Given the description of an element on the screen output the (x, y) to click on. 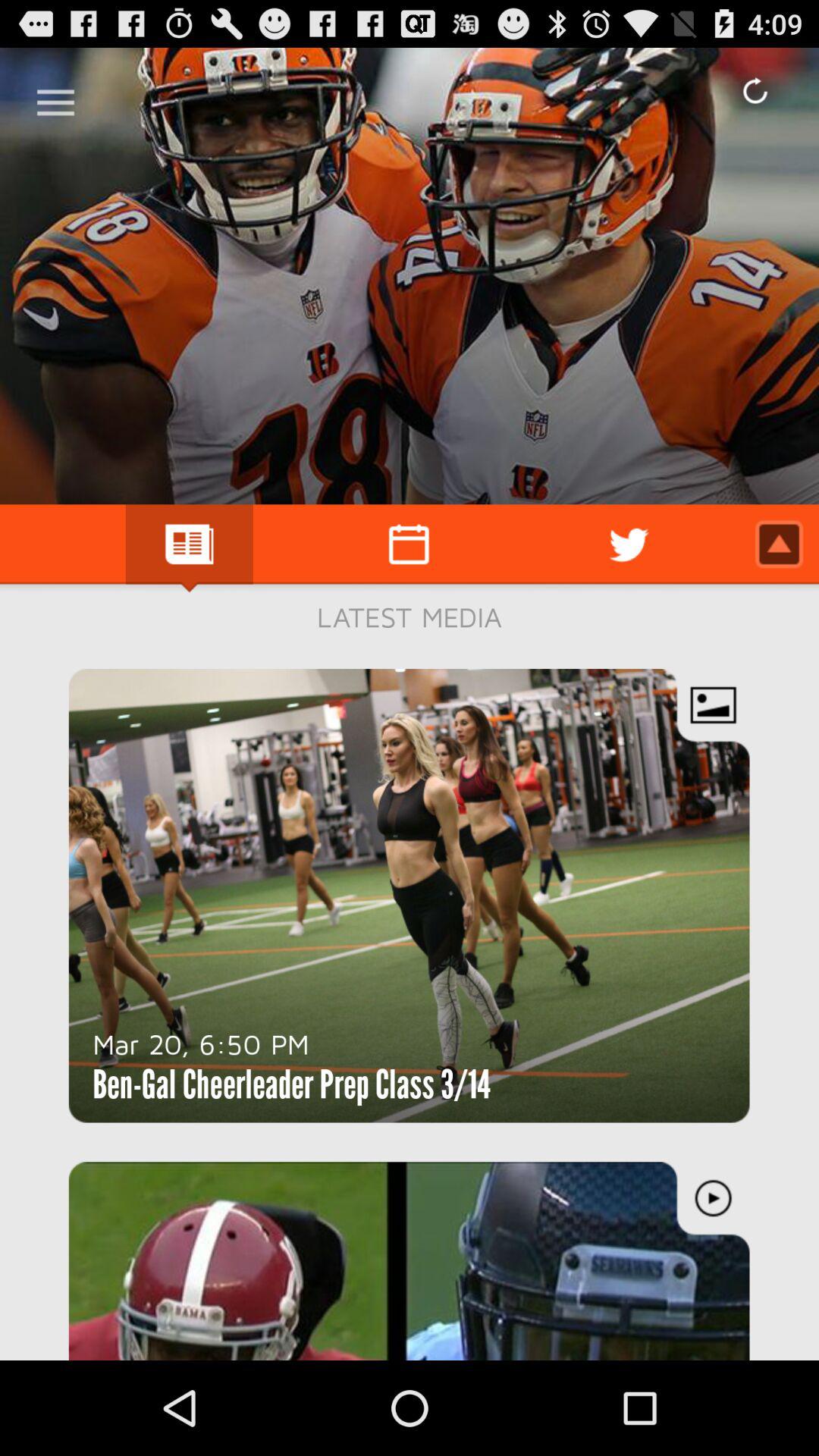
select the latest media (409, 616)
